Given the description of an element on the screen output the (x, y) to click on. 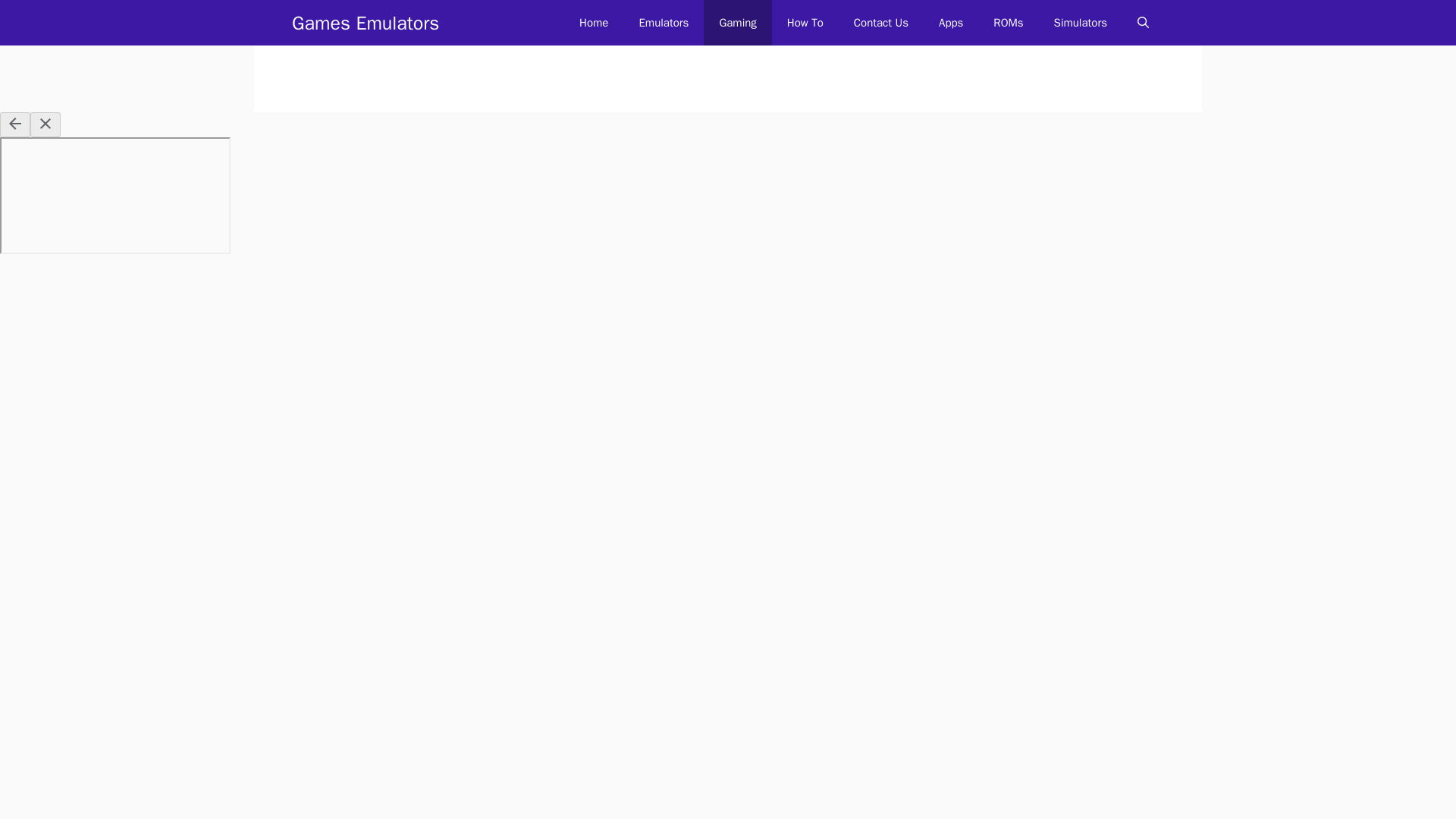
Emulators (663, 22)
How To (804, 22)
Gaming (737, 22)
Contact Us (880, 22)
Home (593, 22)
Apps (950, 22)
Simulators (1080, 22)
ROMs (1008, 22)
Games Emulators (365, 22)
